Given the description of an element on the screen output the (x, y) to click on. 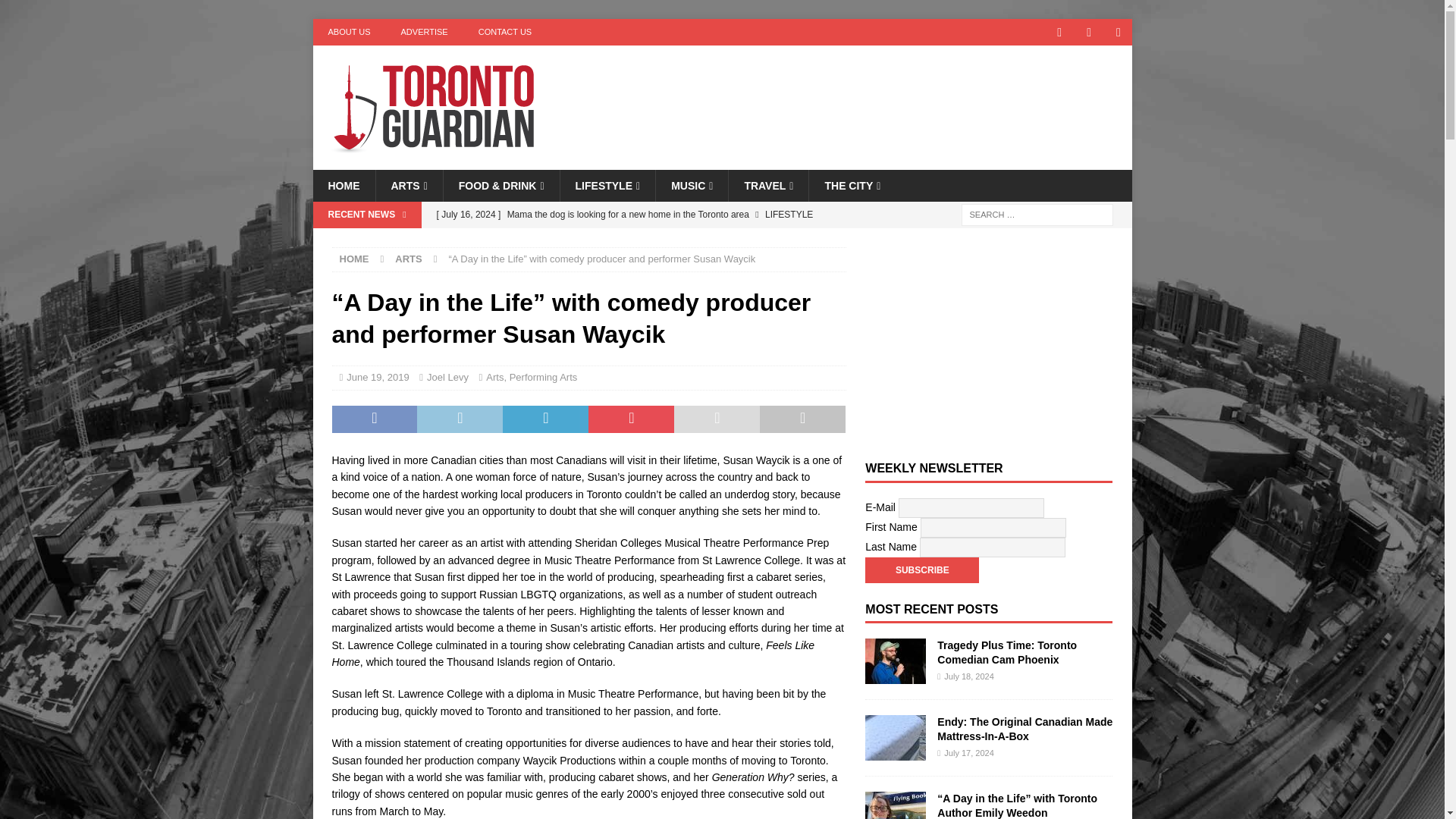
CONTACT US (505, 31)
Subscribe (921, 570)
Mama the dog is looking for a new home in the Toronto area (636, 214)
The Bruce Hotel in Stratford celebrates 10 luxurious years (636, 240)
Advertisement (868, 94)
ADVERTISE (424, 31)
ABOUT US (349, 31)
